Given the description of an element on the screen output the (x, y) to click on. 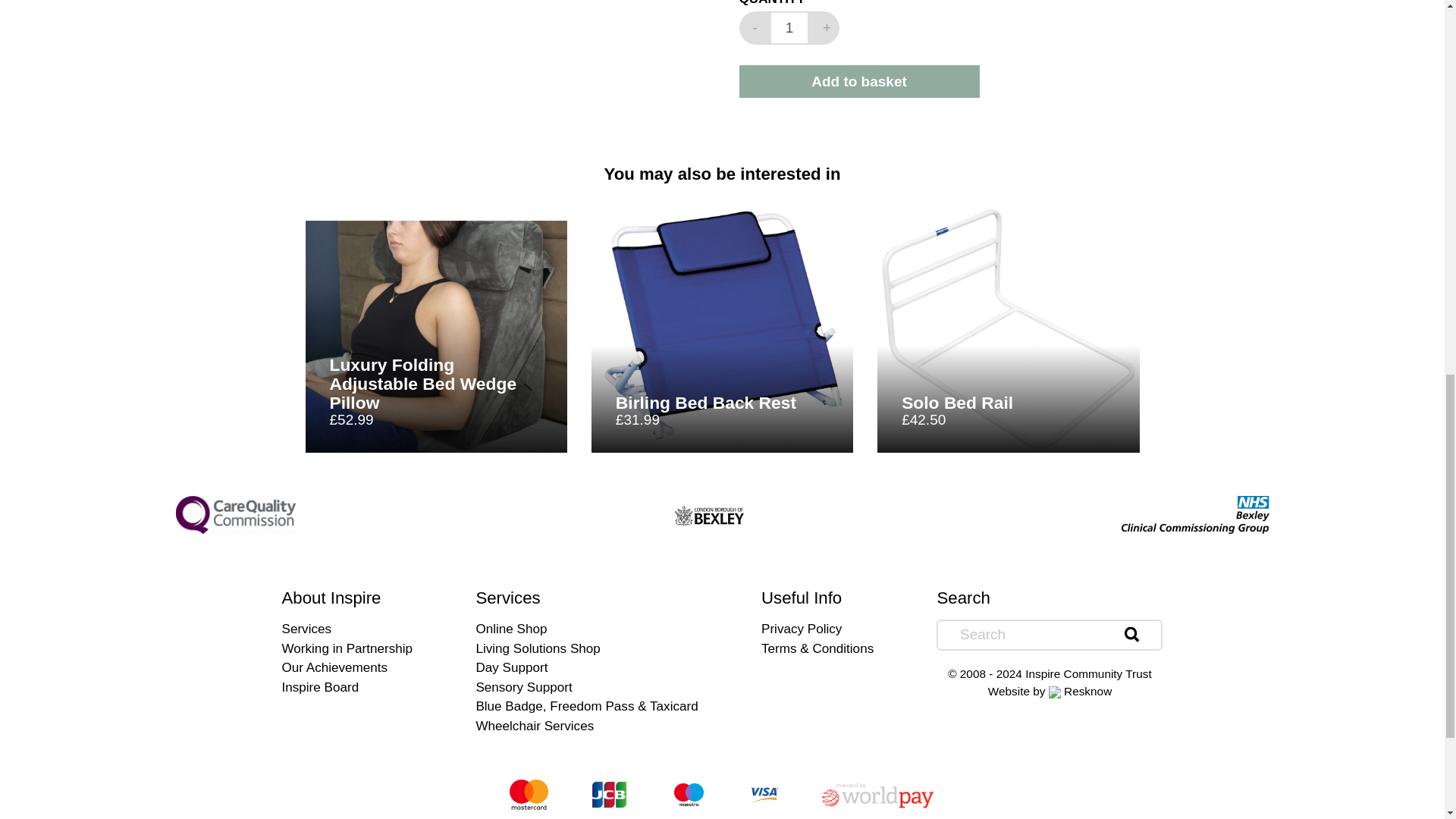
1 (788, 28)
Qty (788, 28)
search (753, 28)
Working in Partnership (1132, 634)
Add to basket (347, 648)
Services (858, 81)
